Given the description of an element on the screen output the (x, y) to click on. 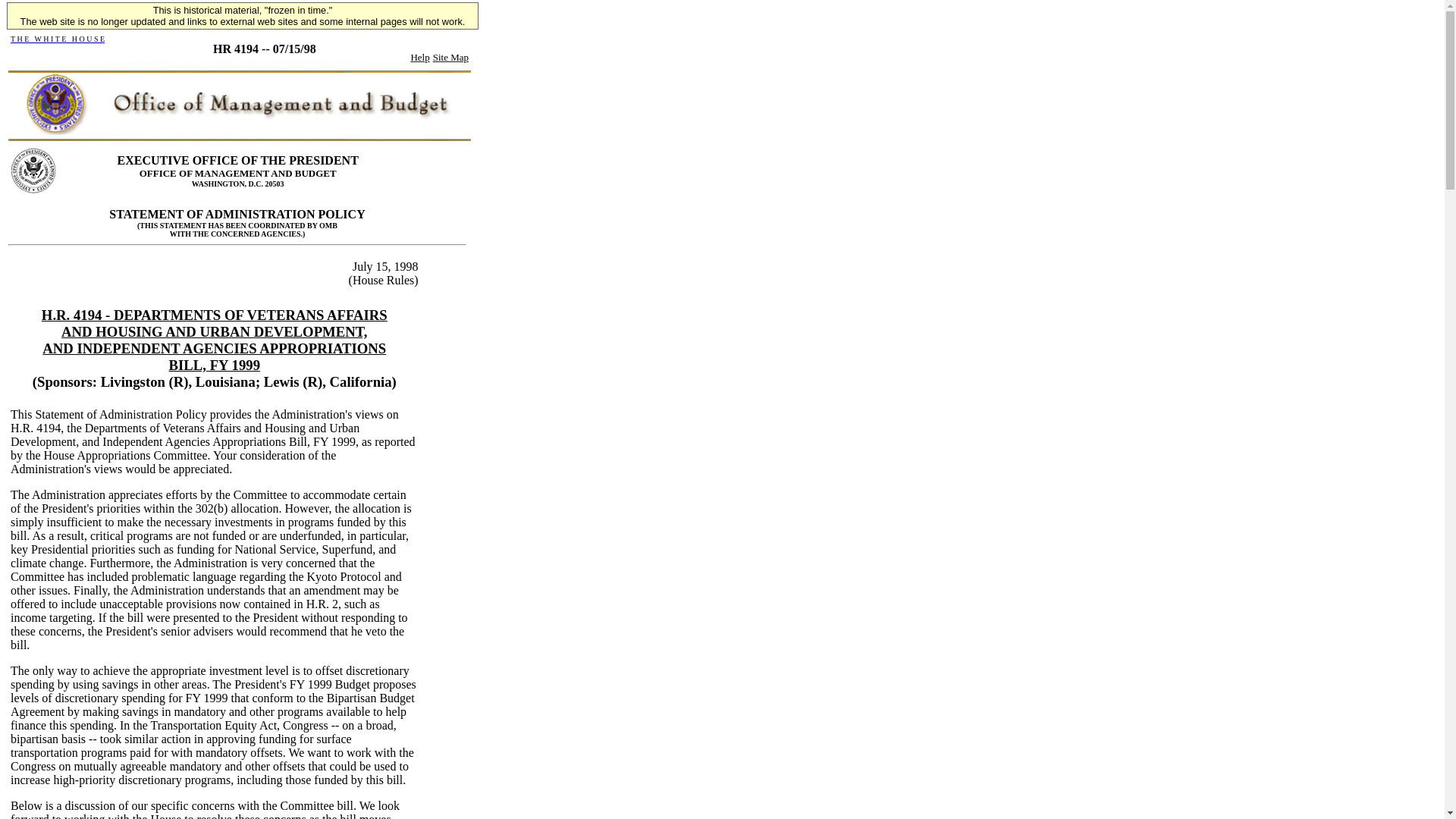
Help (419, 56)
Site Map (450, 56)
T H E   W H I T E   H O U S E (57, 37)
